Given the description of an element on the screen output the (x, y) to click on. 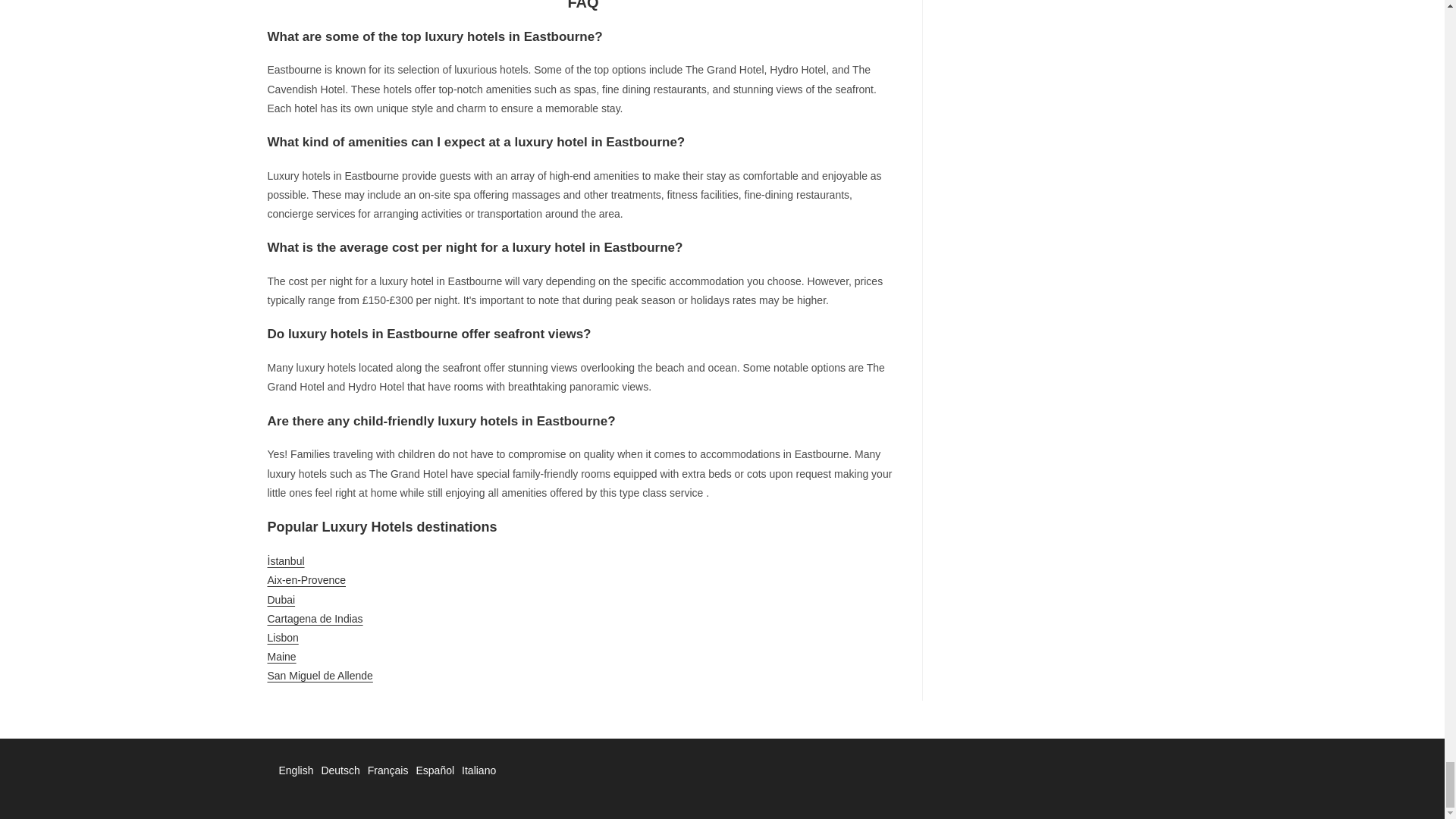
English (296, 770)
Cartagena de Indias (314, 618)
Dubai (280, 599)
Maine (280, 656)
Lisbon (282, 637)
Aix-en-Provence (306, 580)
Deutsch (339, 770)
San Miguel de Allende (319, 675)
Italiano (478, 770)
